Given the description of an element on the screen output the (x, y) to click on. 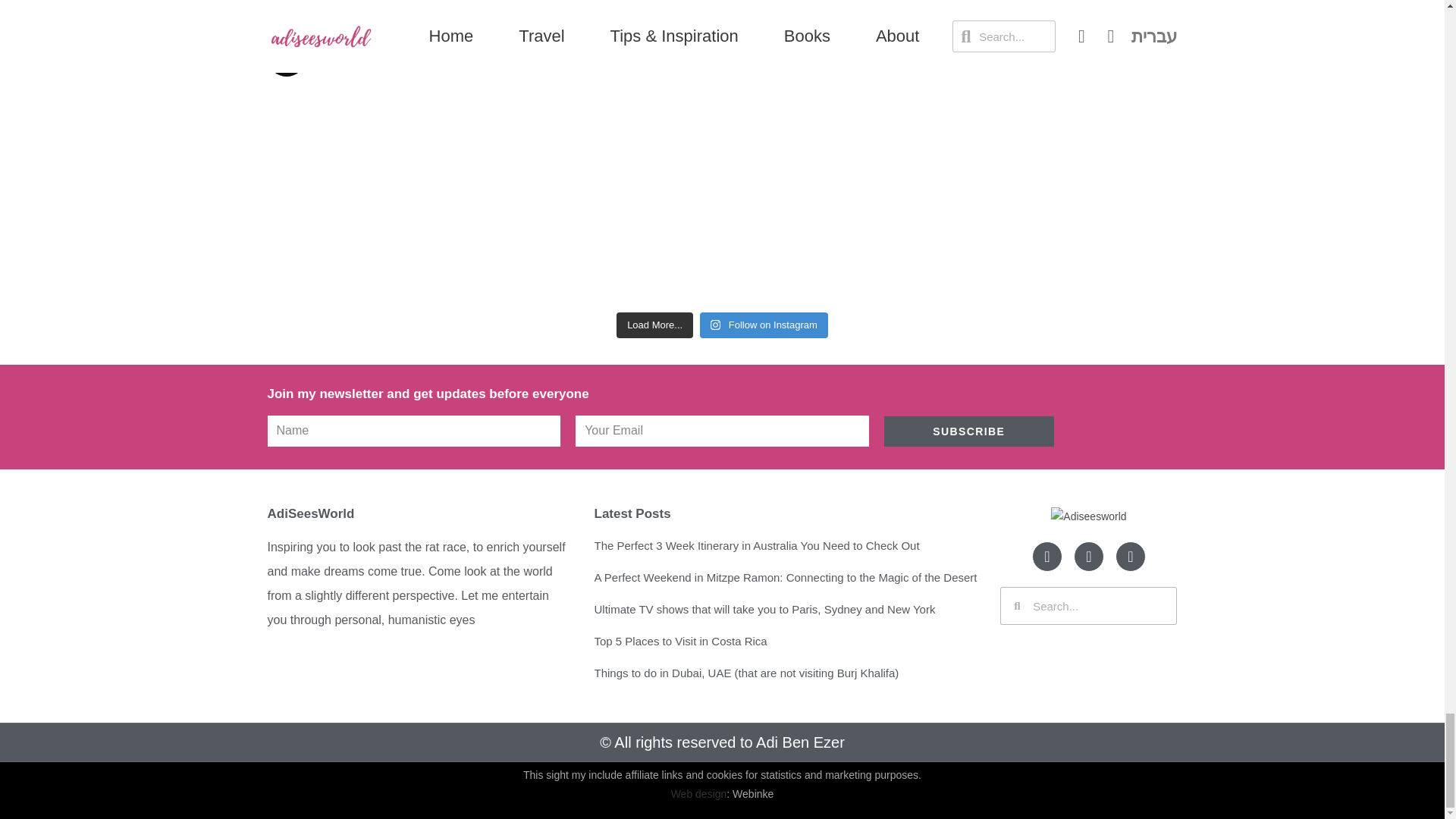
Adiseesworld (1088, 516)
